Given the description of an element on the screen output the (x, y) to click on. 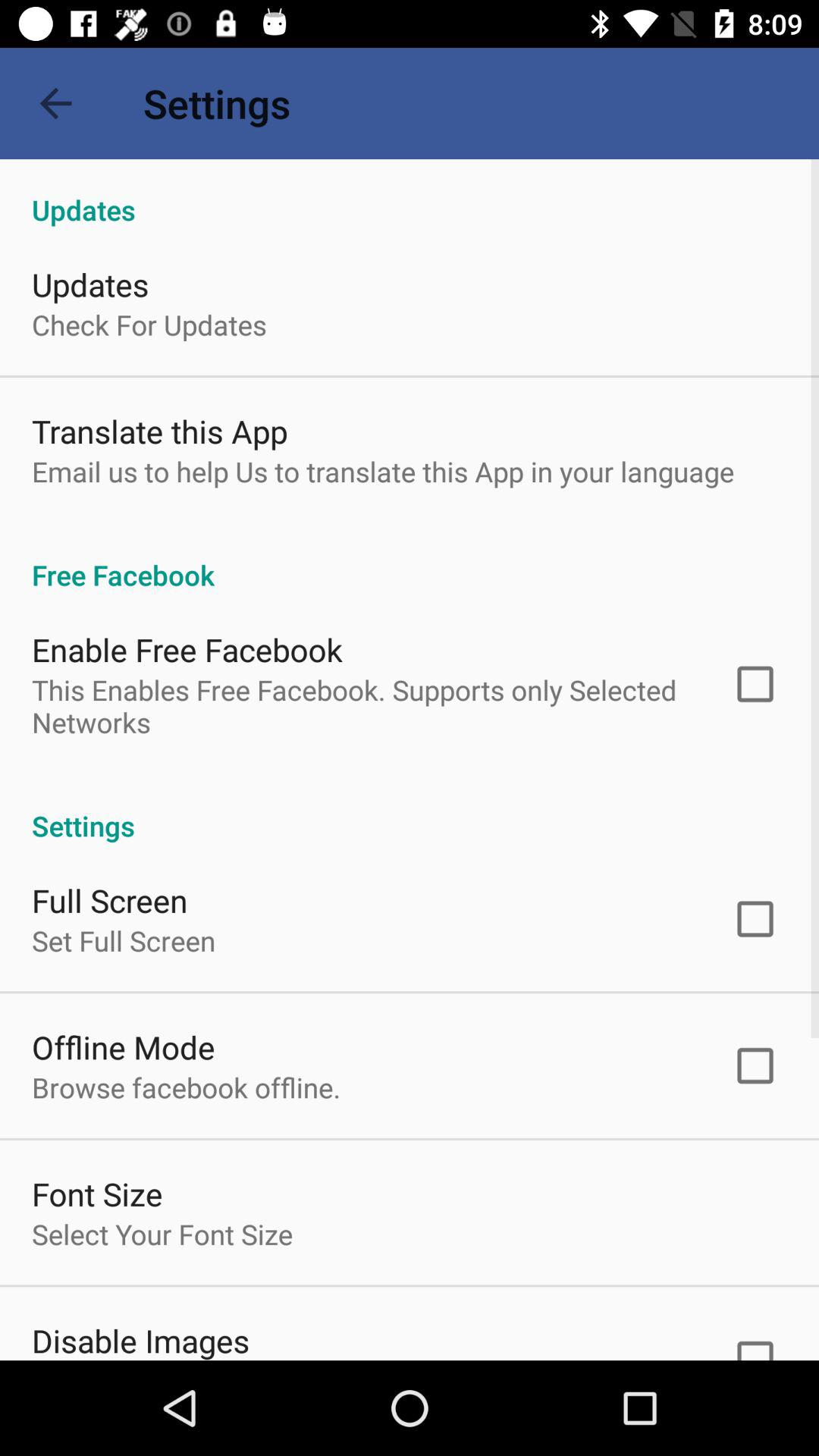
scroll to the offline mode app (122, 1046)
